Given the description of an element on the screen output the (x, y) to click on. 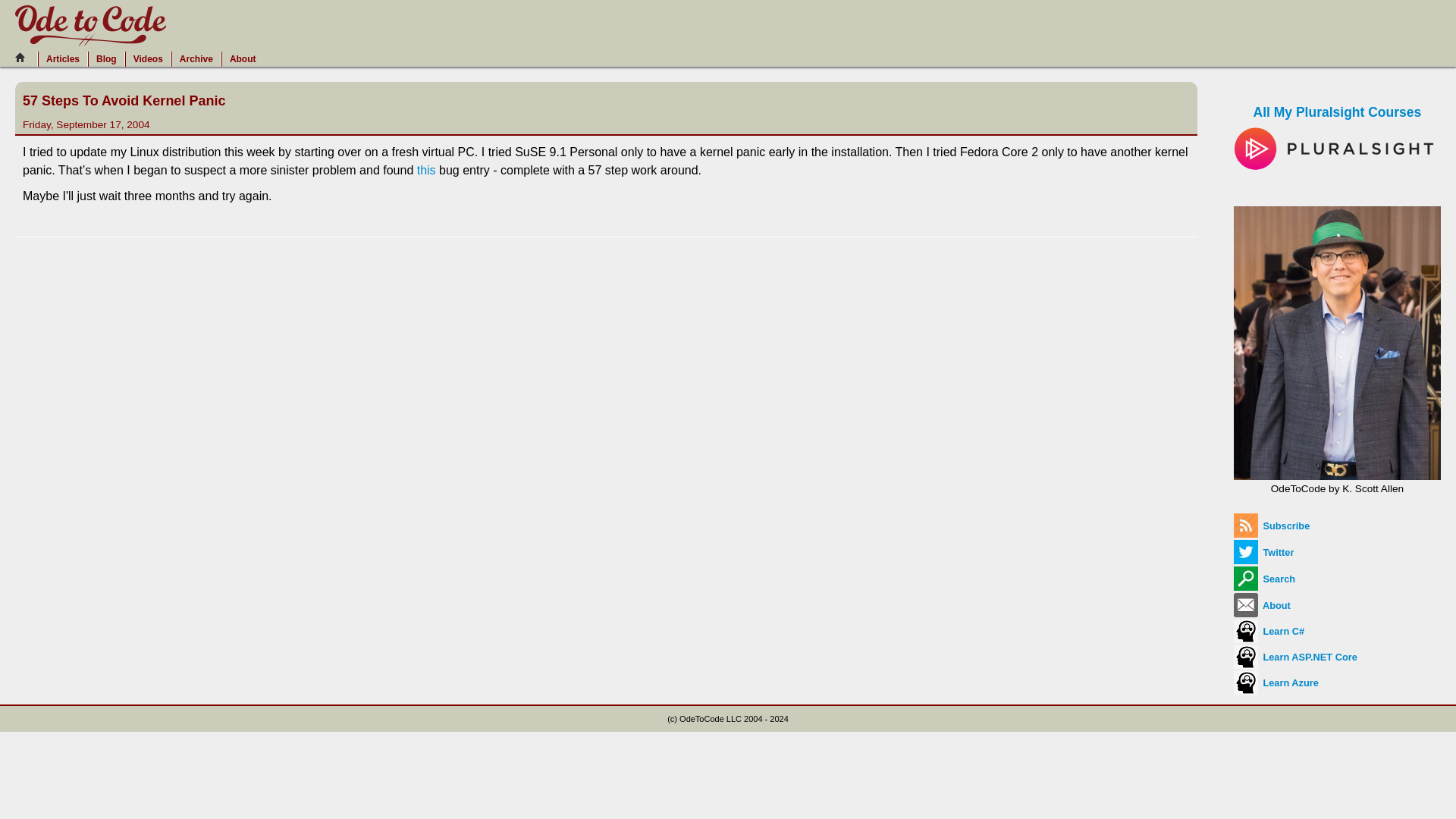
Blog (106, 58)
Learn ASP.NET Core (1294, 656)
About (1261, 604)
All My Pluralsight Courses (1337, 129)
Twitter (1263, 552)
Subscribe to my feed (1270, 525)
Subscribe (1270, 525)
Articles (62, 58)
About (242, 58)
Learn Azure (1276, 682)
